Given the description of an element on the screen output the (x, y) to click on. 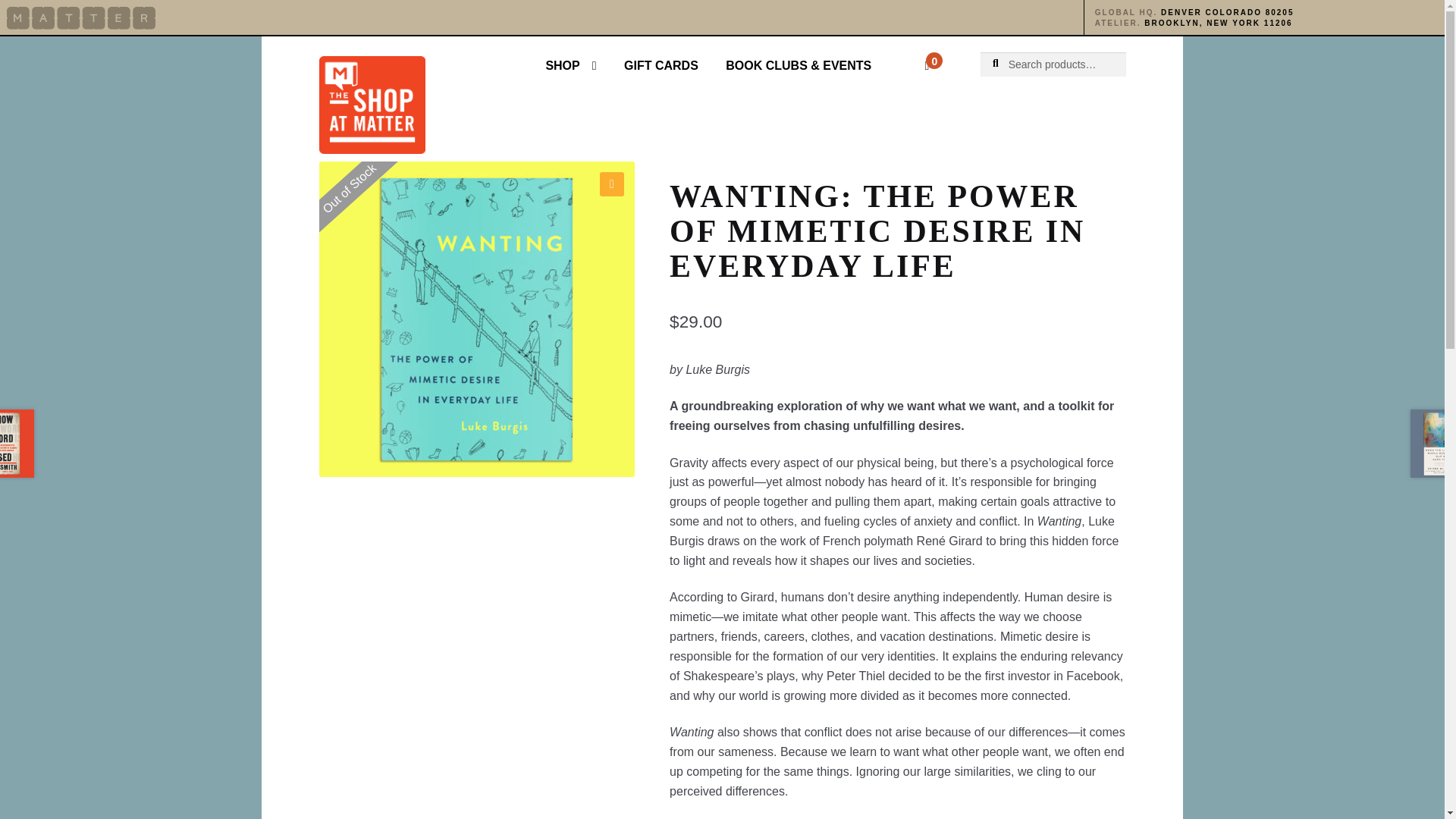
GIFT CARDS (660, 65)
View your shopping cart (905, 56)
Advocating design for human good (81, 17)
Wanting (475, 318)
SHOP (570, 65)
